Given the description of an element on the screen output the (x, y) to click on. 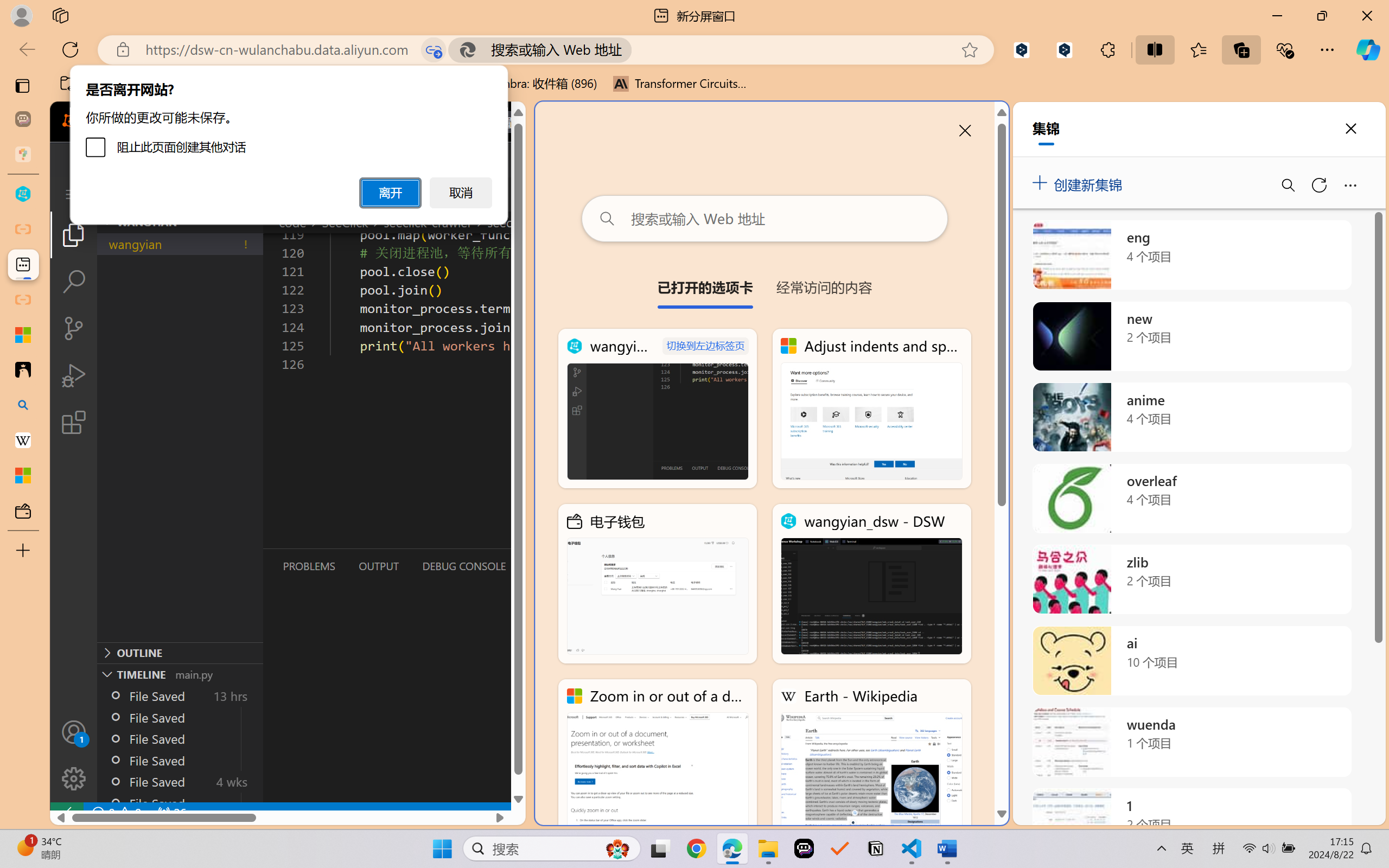
wangyian_dsw - DSW (871, 583)
Earth - Wikipedia (871, 758)
Accounts - Sign in requested (73, 732)
Manage (73, 755)
